Given the description of an element on the screen output the (x, y) to click on. 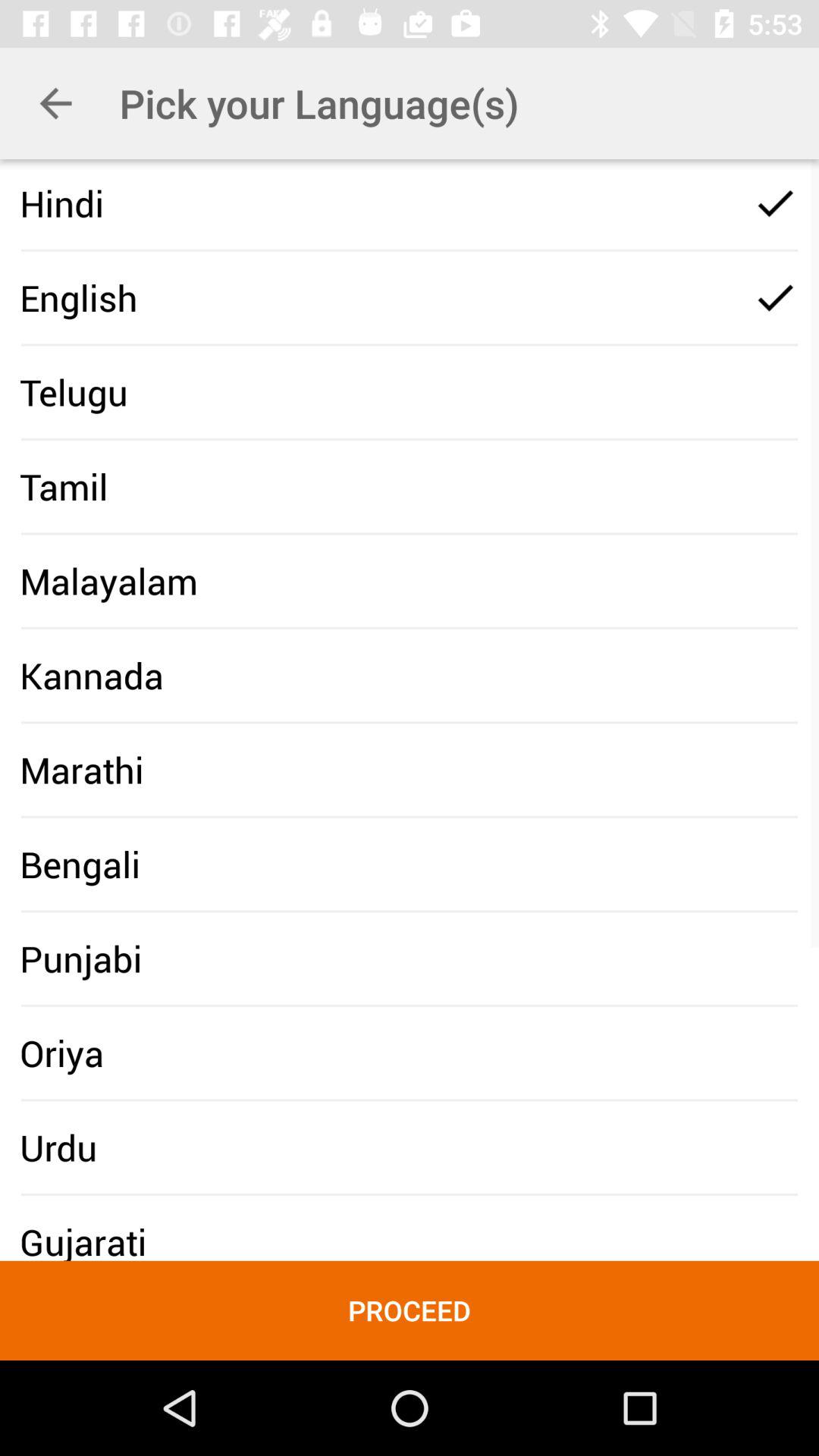
launch item below the tamil item (108, 580)
